Given the description of an element on the screen output the (x, y) to click on. 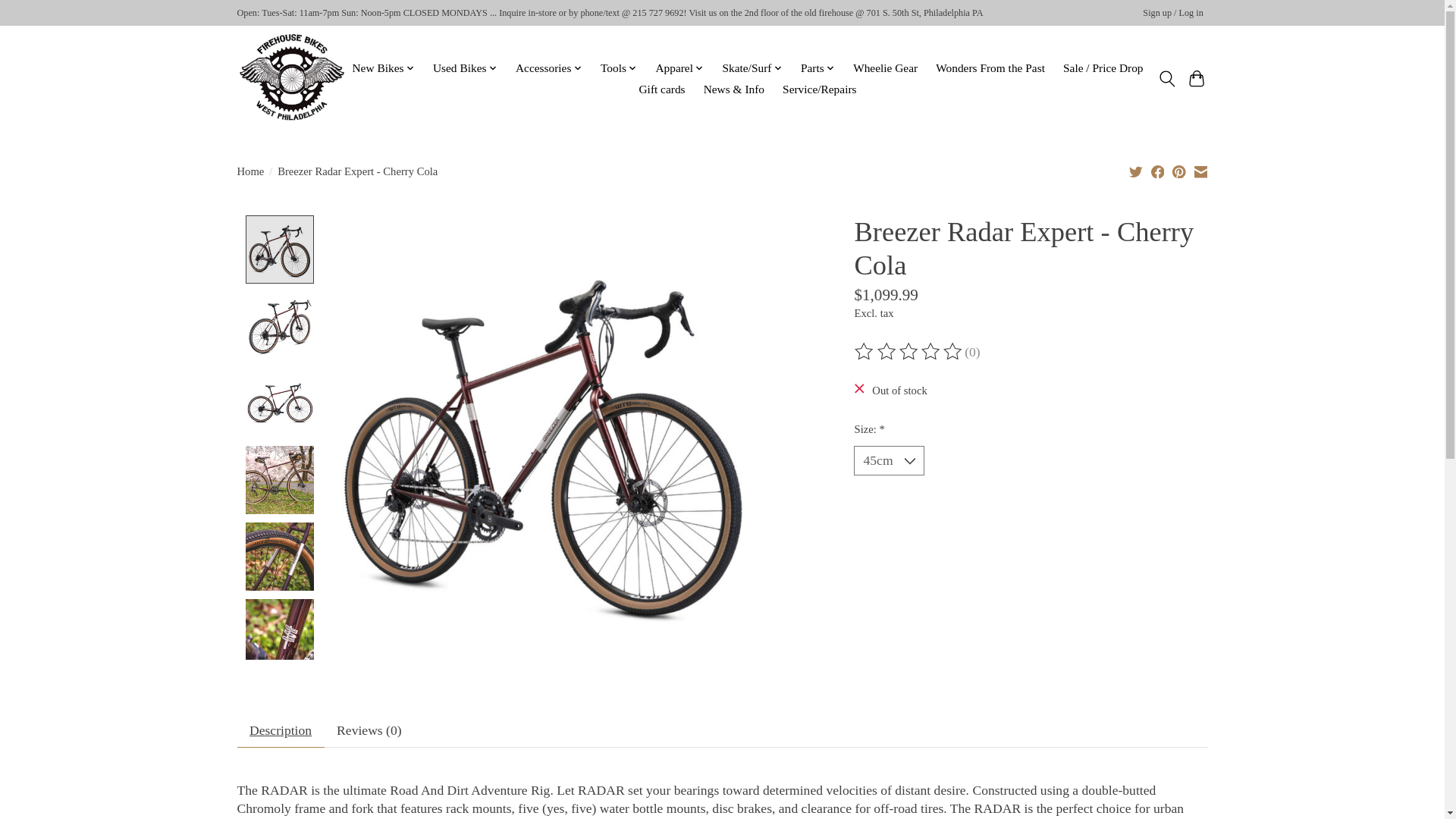
Firehouse Bicycles (290, 78)
Share on Pinterest (1178, 171)
Used Bikes (465, 67)
Share by Email (1200, 171)
New Bikes (383, 67)
Share on Twitter (1135, 171)
Share on Facebook (1157, 171)
My account (1173, 13)
Accessories (549, 67)
